Given the description of an element on the screen output the (x, y) to click on. 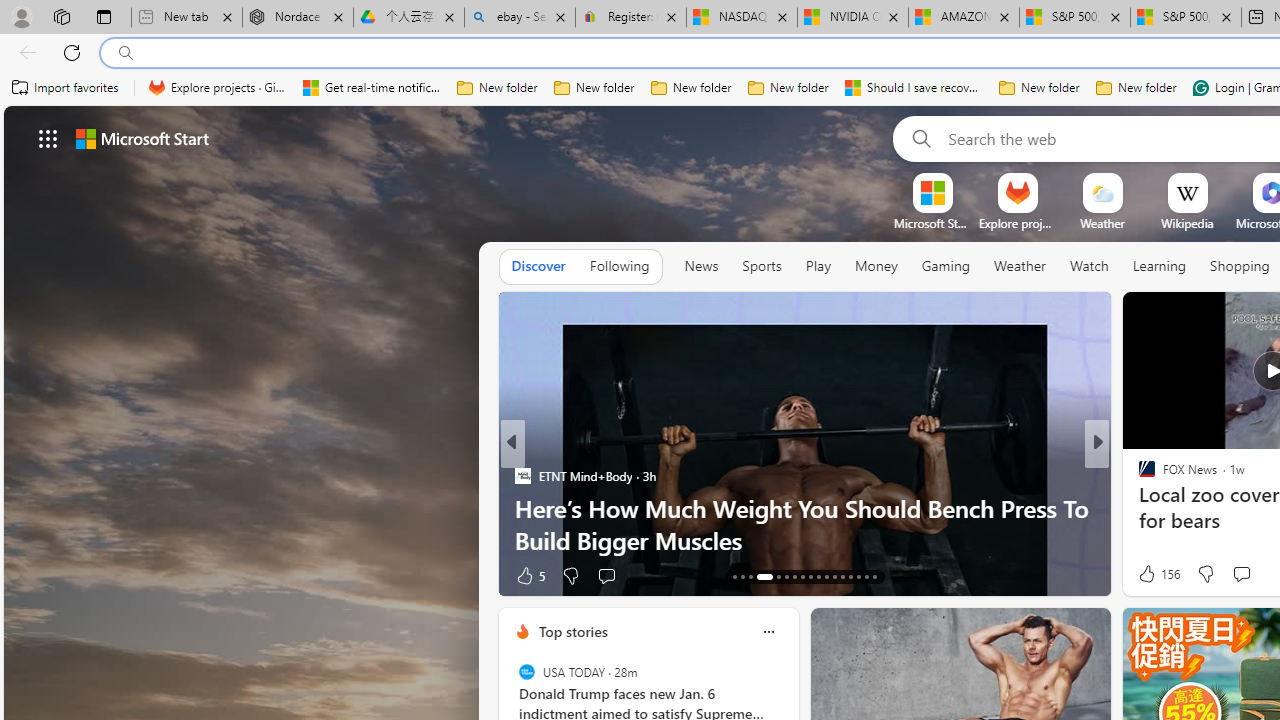
FailArmy (1138, 507)
View comments 98 Comment (11, 575)
View comments 1 Comment (1229, 575)
Forge of Empires (1175, 507)
USA TODAY (526, 672)
AutomationID: tab-14 (742, 576)
AutomationID: tab-20 (801, 576)
CNBC (1138, 475)
